Given the description of an element on the screen output the (x, y) to click on. 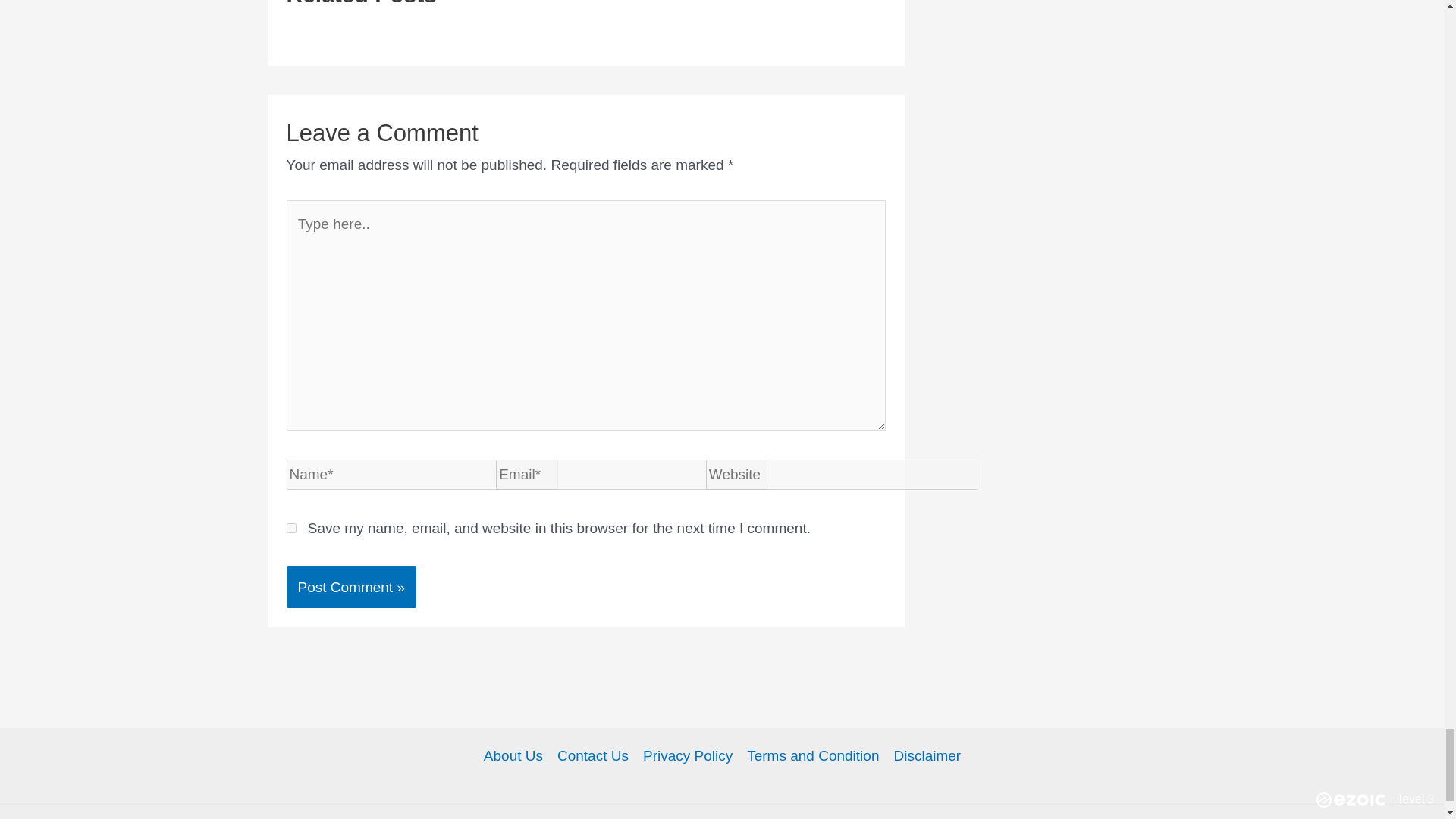
yes (291, 528)
